Given the description of an element on the screen output the (x, y) to click on. 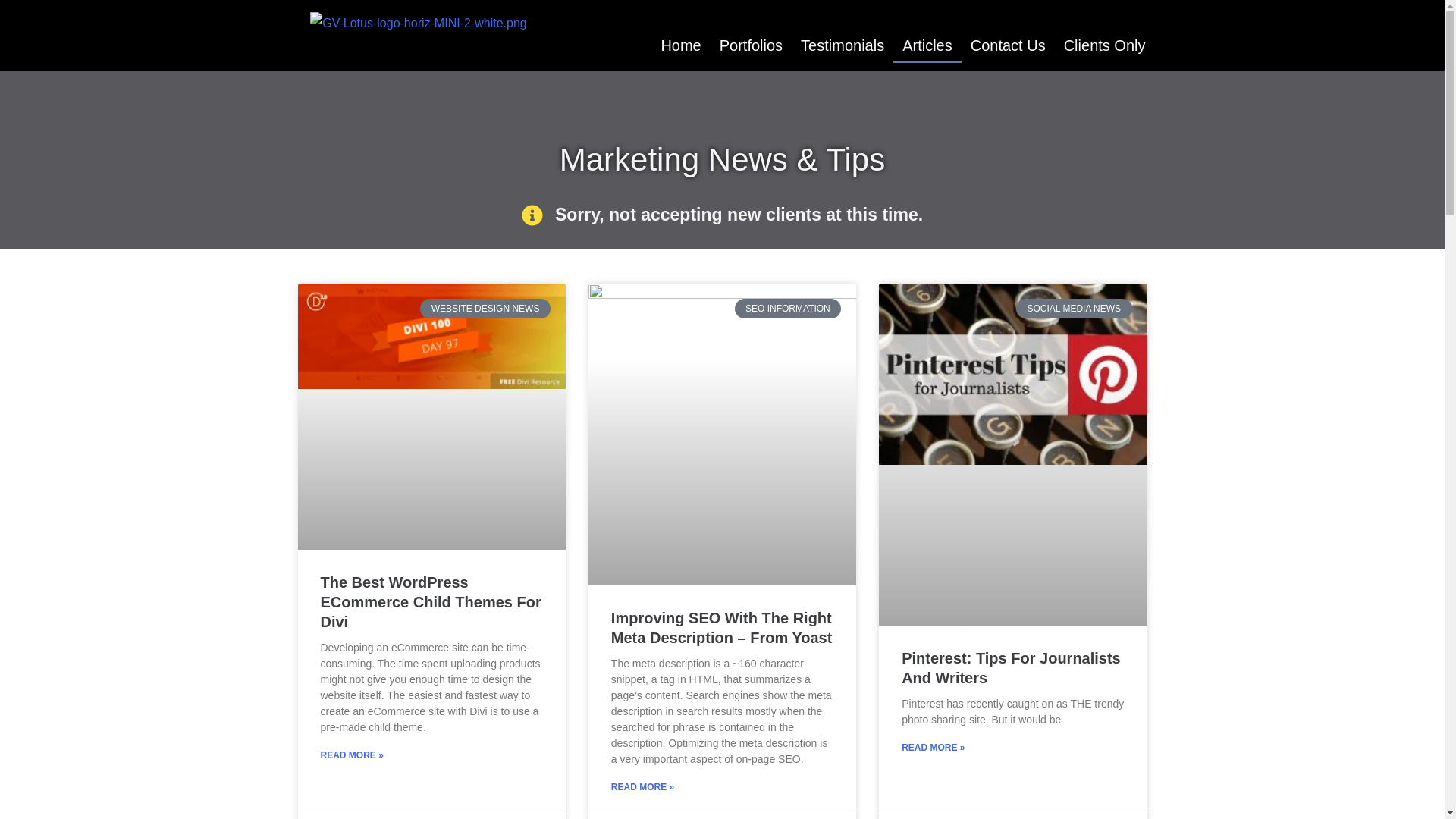
GV-Lotus-logo-horiz-MINI-2-white.png (417, 23)
Portfolios (751, 45)
Articles (926, 45)
Contact Us (1007, 45)
Home (680, 45)
Clients Only (1104, 45)
Testimonials (842, 45)
